Given the description of an element on the screen output the (x, y) to click on. 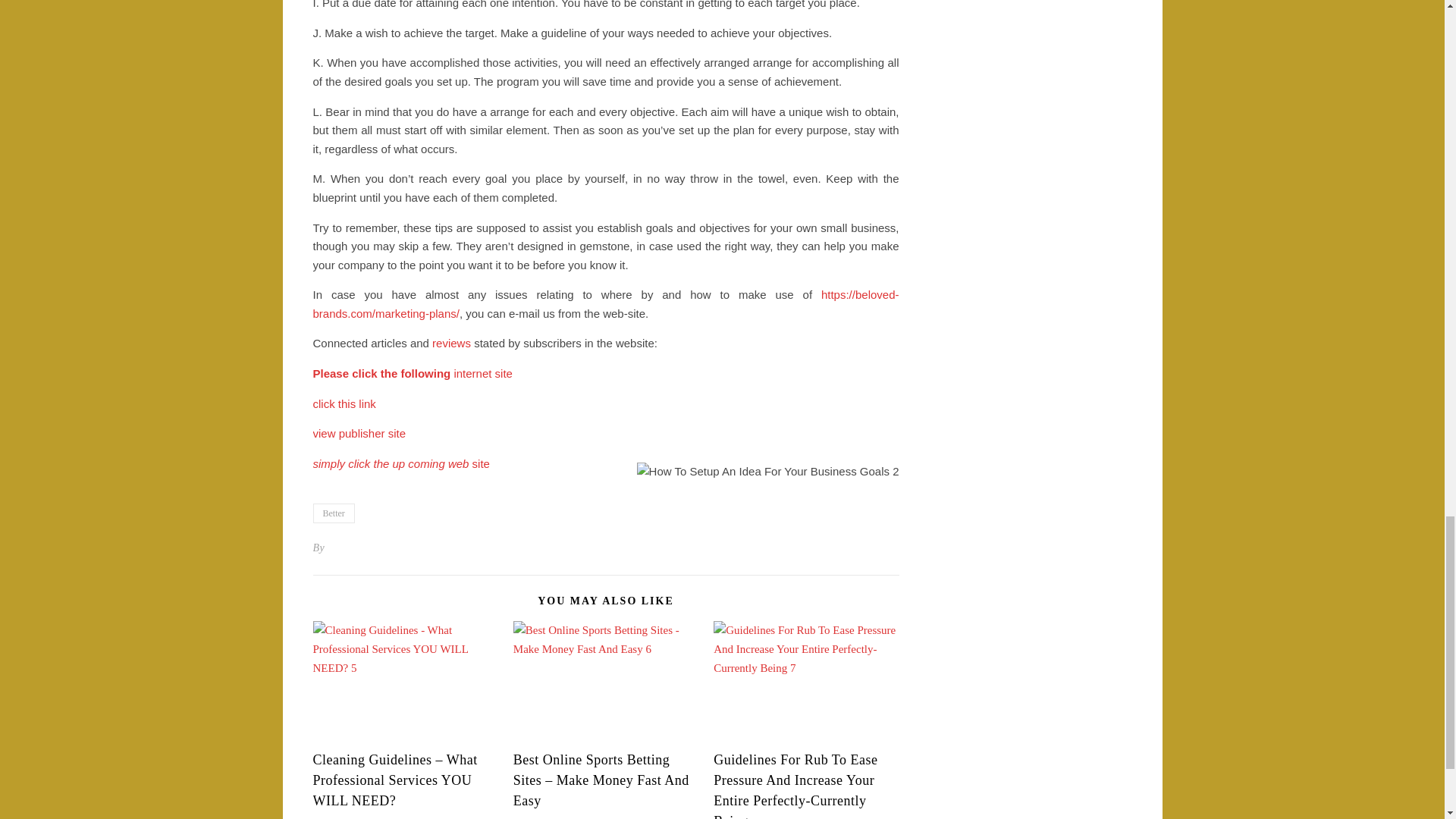
reviews (451, 342)
click this link (344, 403)
Please click the following internet site (412, 373)
Better (333, 513)
view publisher site (359, 432)
simply click the up coming web site (401, 463)
